Given the description of an element on the screen output the (x, y) to click on. 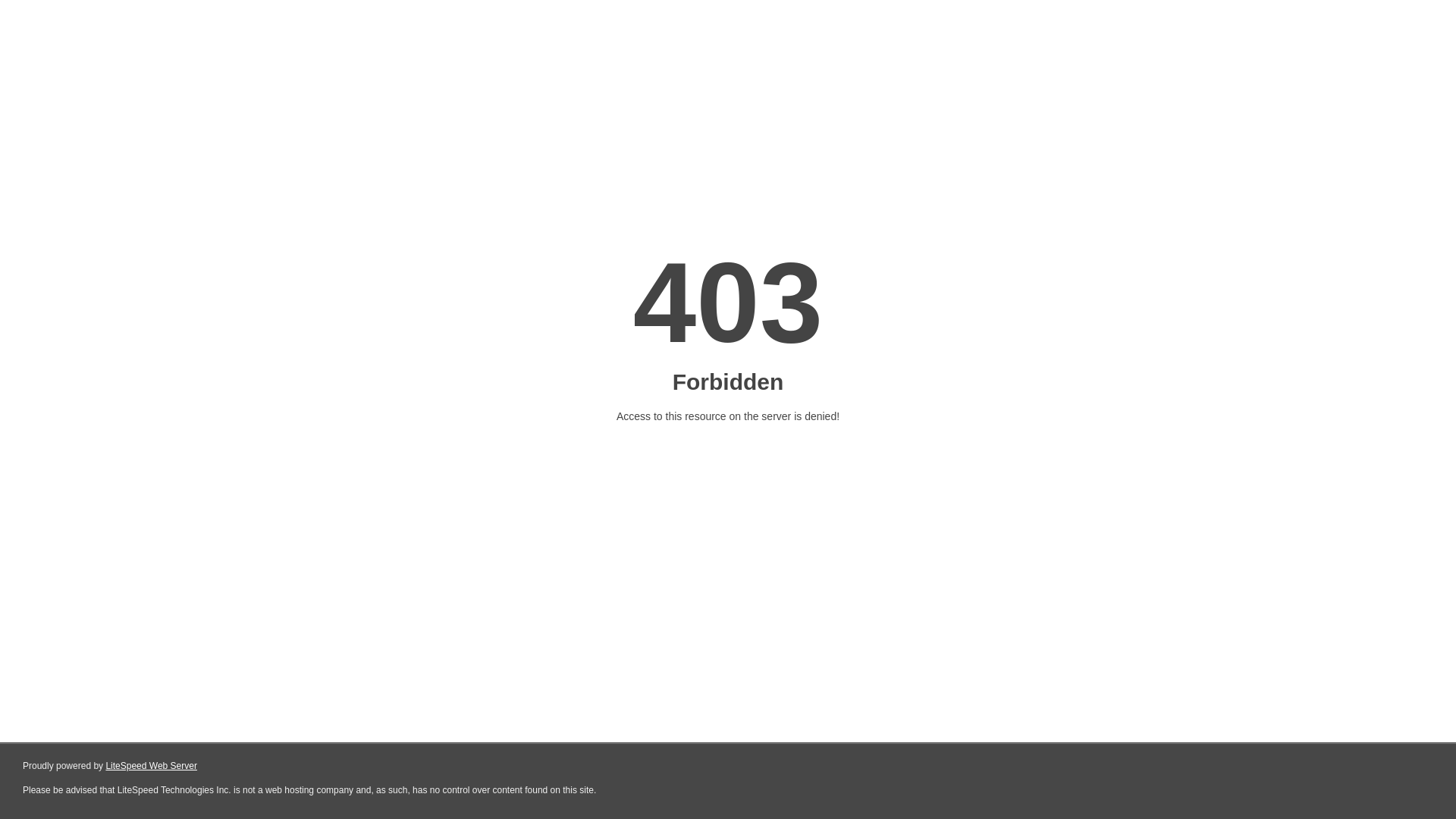
LiteSpeed Web Server Element type: text (151, 765)
